Given the description of an element on the screen output the (x, y) to click on. 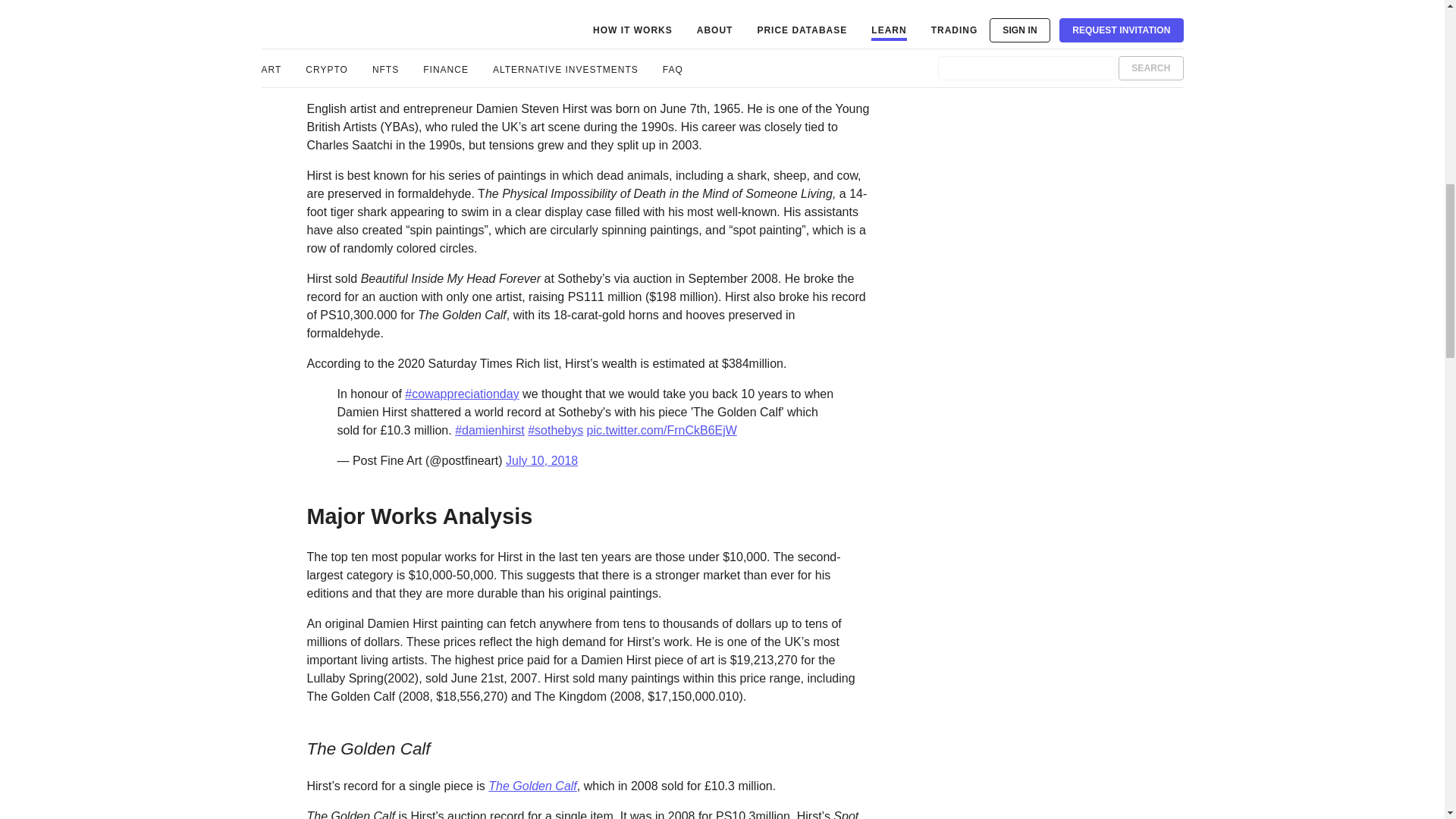
Sign In (285, 753)
October 9, 2018 (582, 11)
The Golden Calf (531, 785)
Secondary Market (346, 430)
How It Works (326, 335)
About (290, 367)
July 10, 2018 (541, 460)
Request Invitation (325, 773)
Price Database (330, 398)
